Given the description of an element on the screen output the (x, y) to click on. 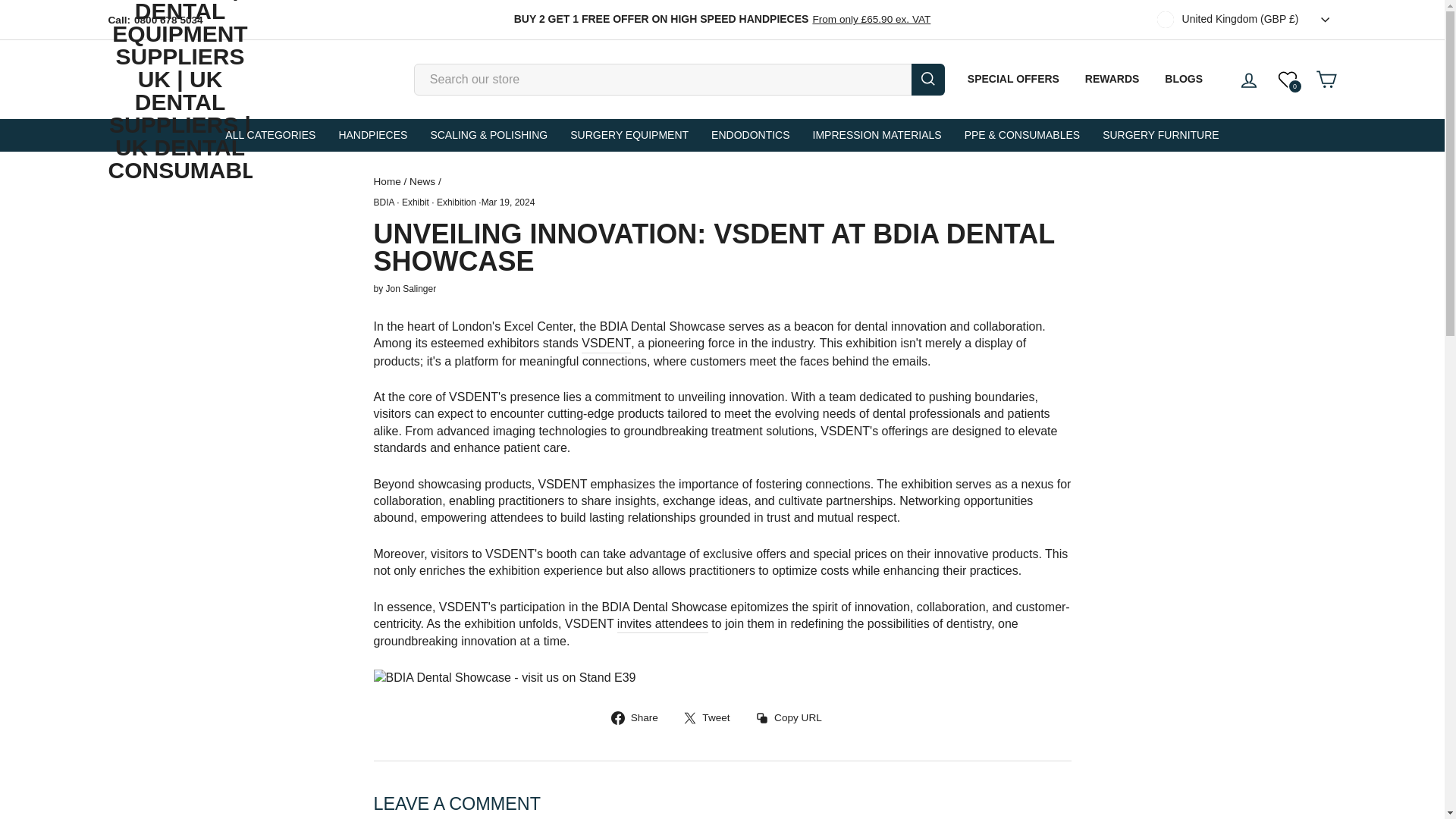
Register as a visitor (662, 624)
Back to the frontpage (386, 181)
Share on Facebook (640, 717)
Tweet on Twitter (711, 717)
VSDENT Website (605, 343)
